Given the description of an element on the screen output the (x, y) to click on. 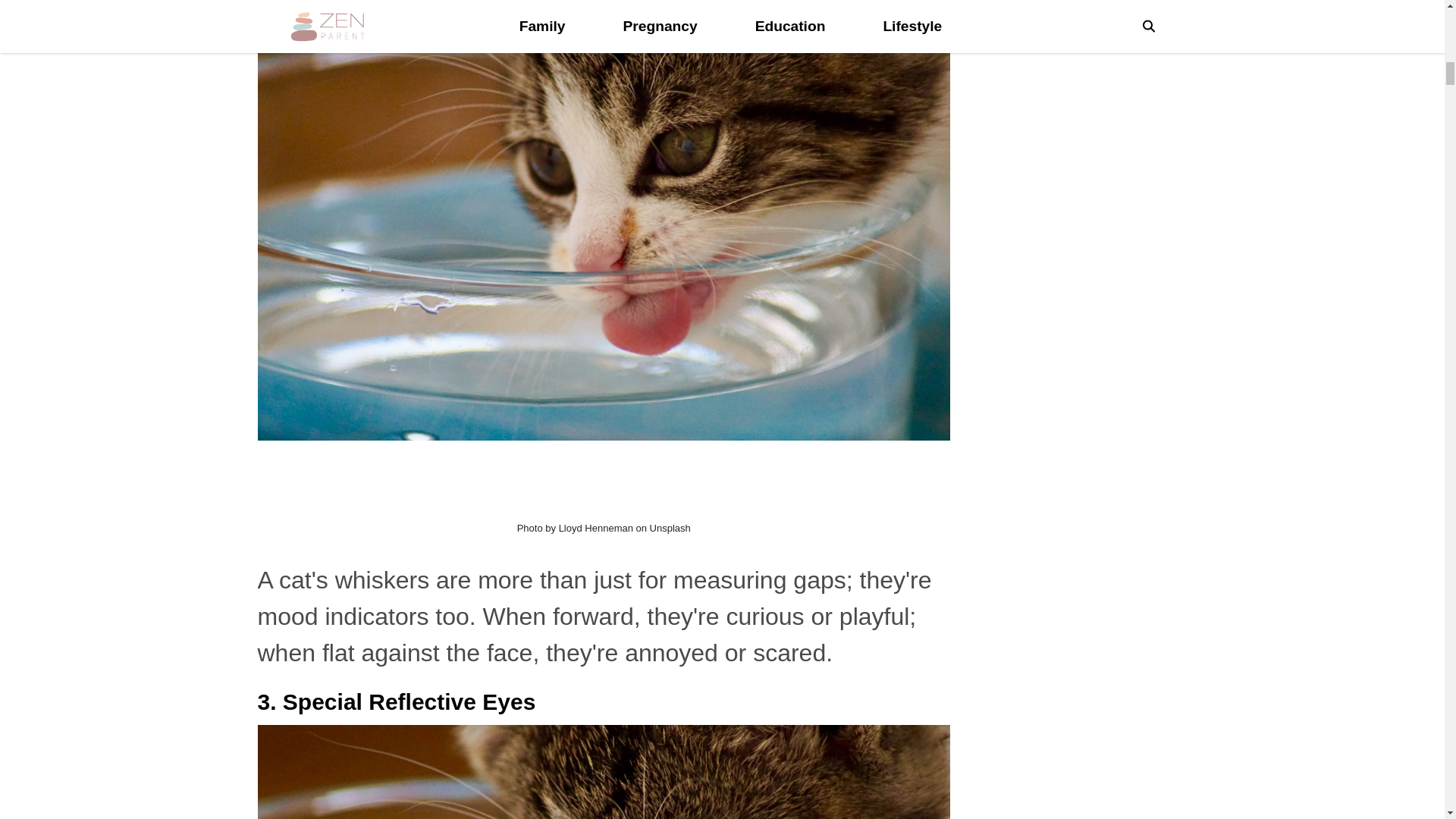
Photo by Lloyd Henneman on Unsplash (603, 527)
